Given the description of an element on the screen output the (x, y) to click on. 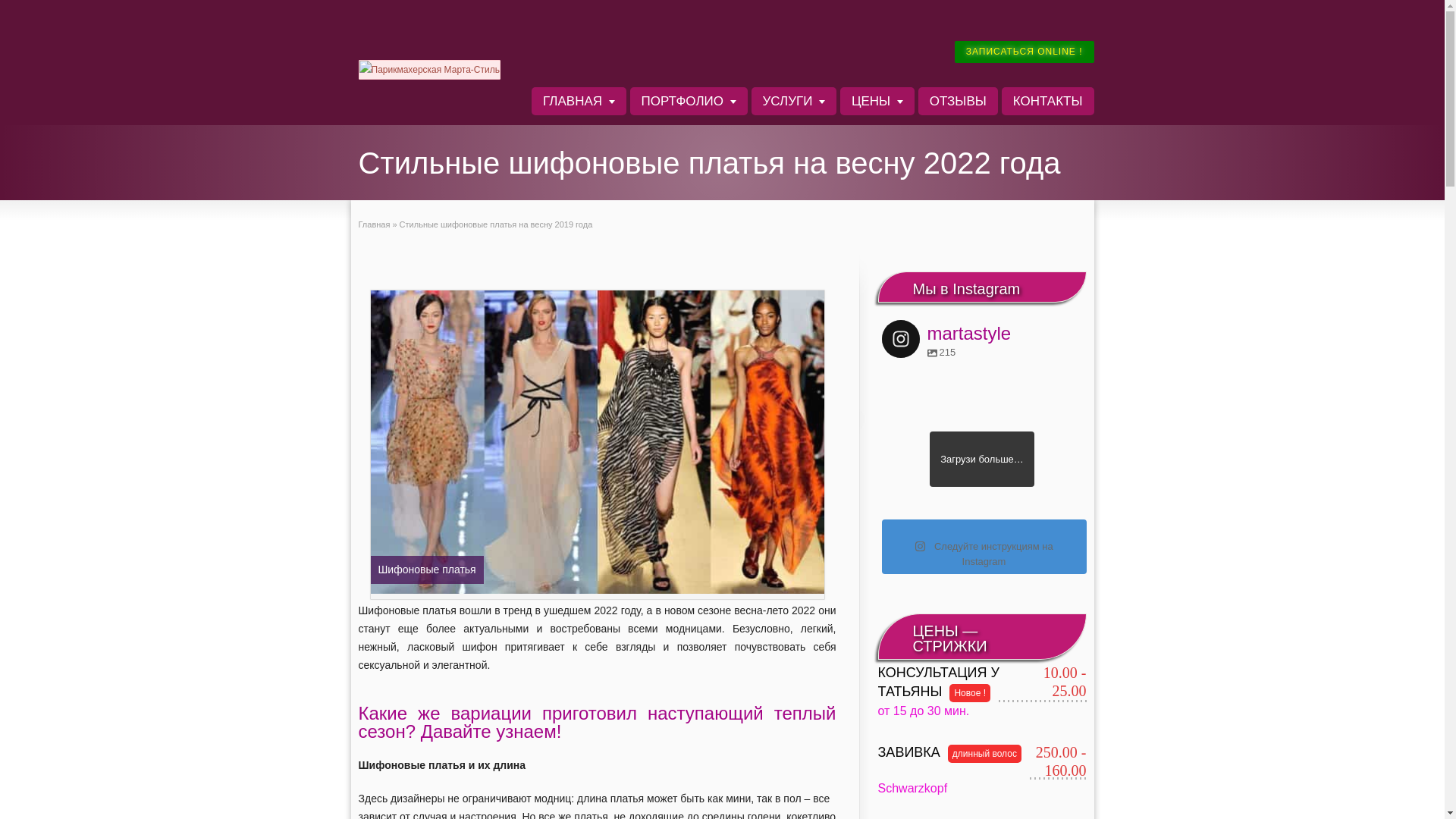
martastyle
215 Element type: text (945, 334)
